Given the description of an element on the screen output the (x, y) to click on. 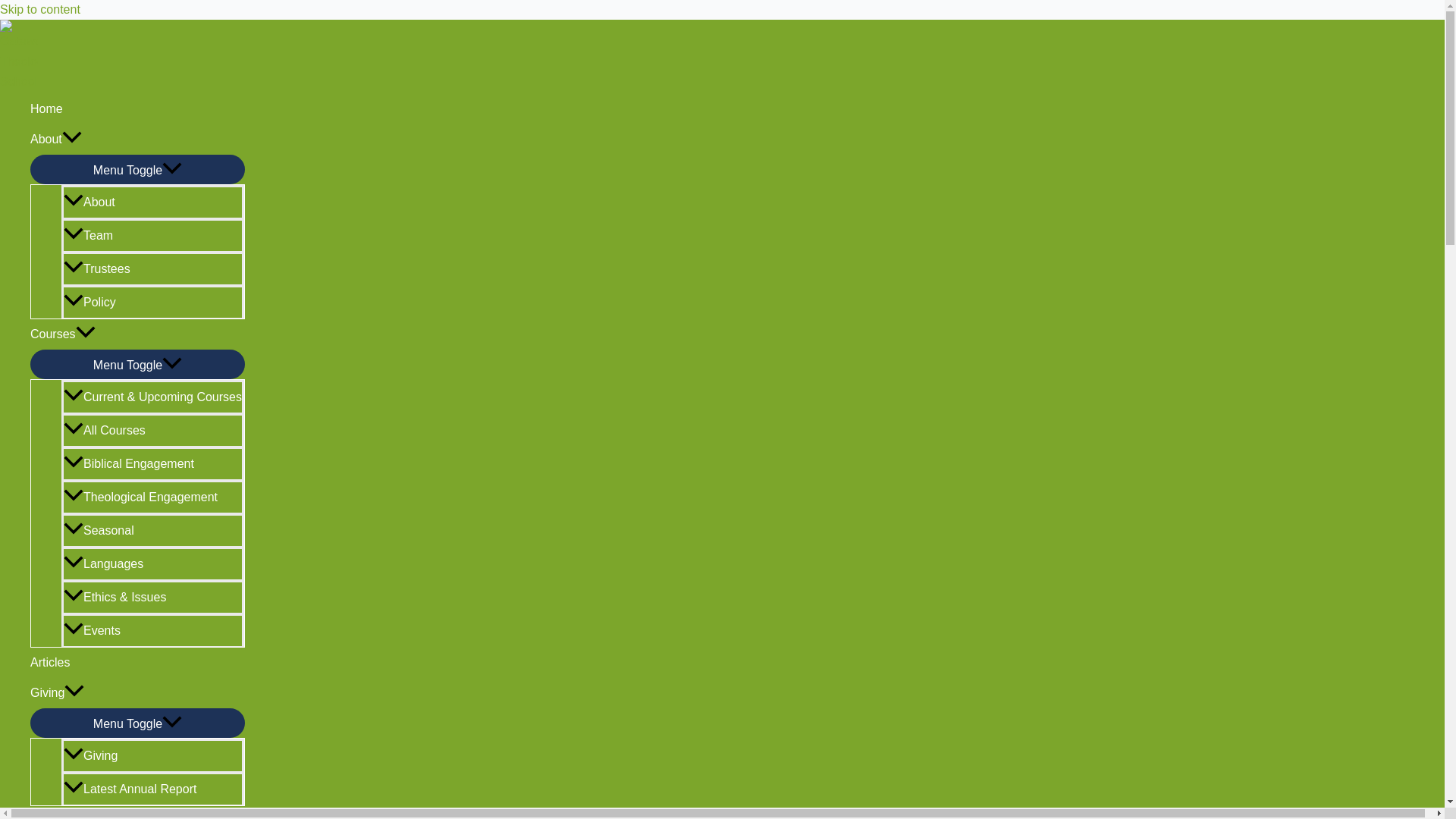
Languages (152, 563)
Menu Toggle (137, 169)
Home (137, 109)
Team (152, 234)
Skip to content (40, 9)
Giving (137, 693)
Menu Toggle (137, 722)
Events (152, 630)
Theological Engagement (152, 496)
Policy (152, 301)
